Given the description of an element on the screen output the (x, y) to click on. 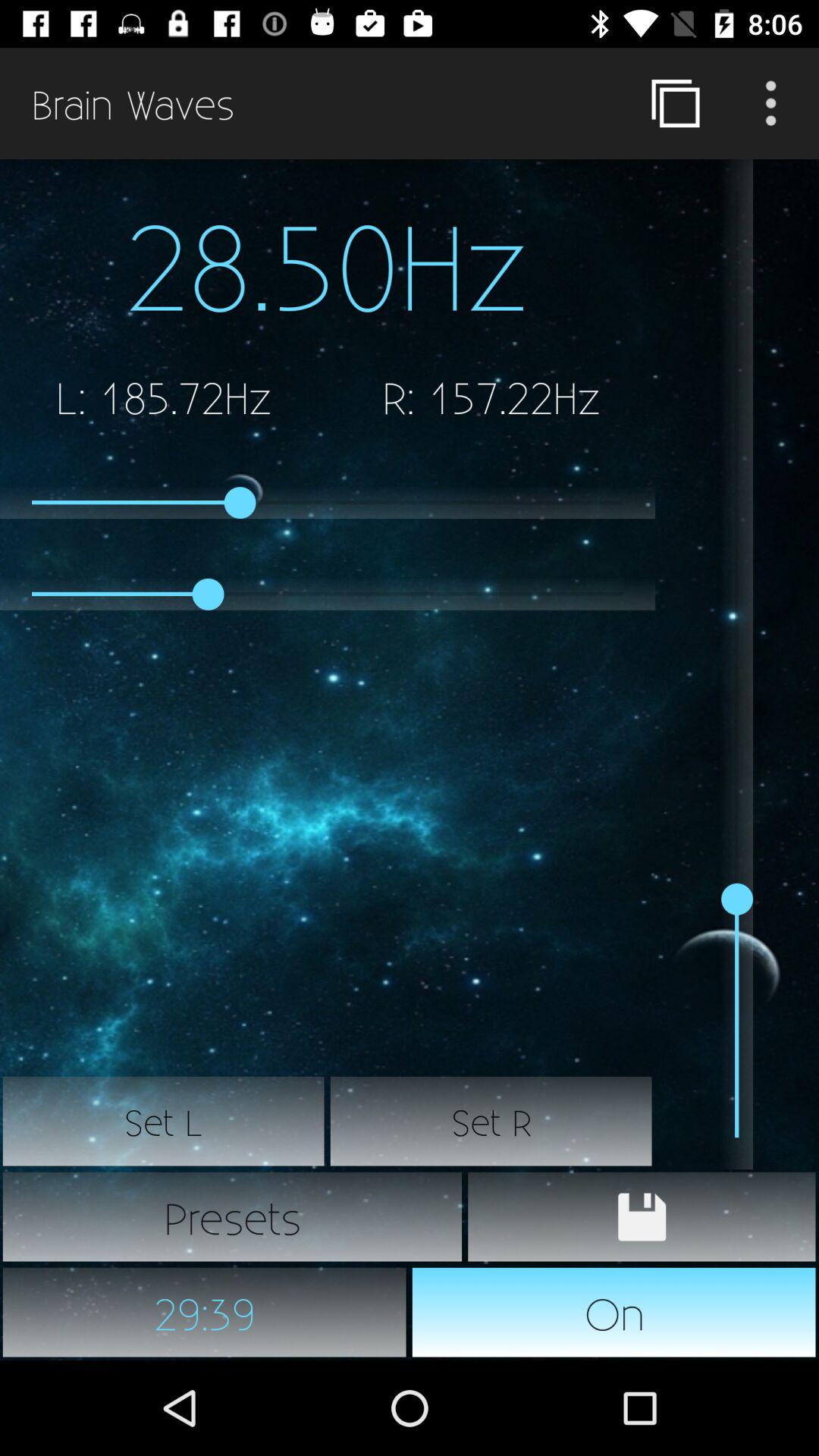
press item to the left of the on icon (204, 1312)
